Given the description of an element on the screen output the (x, y) to click on. 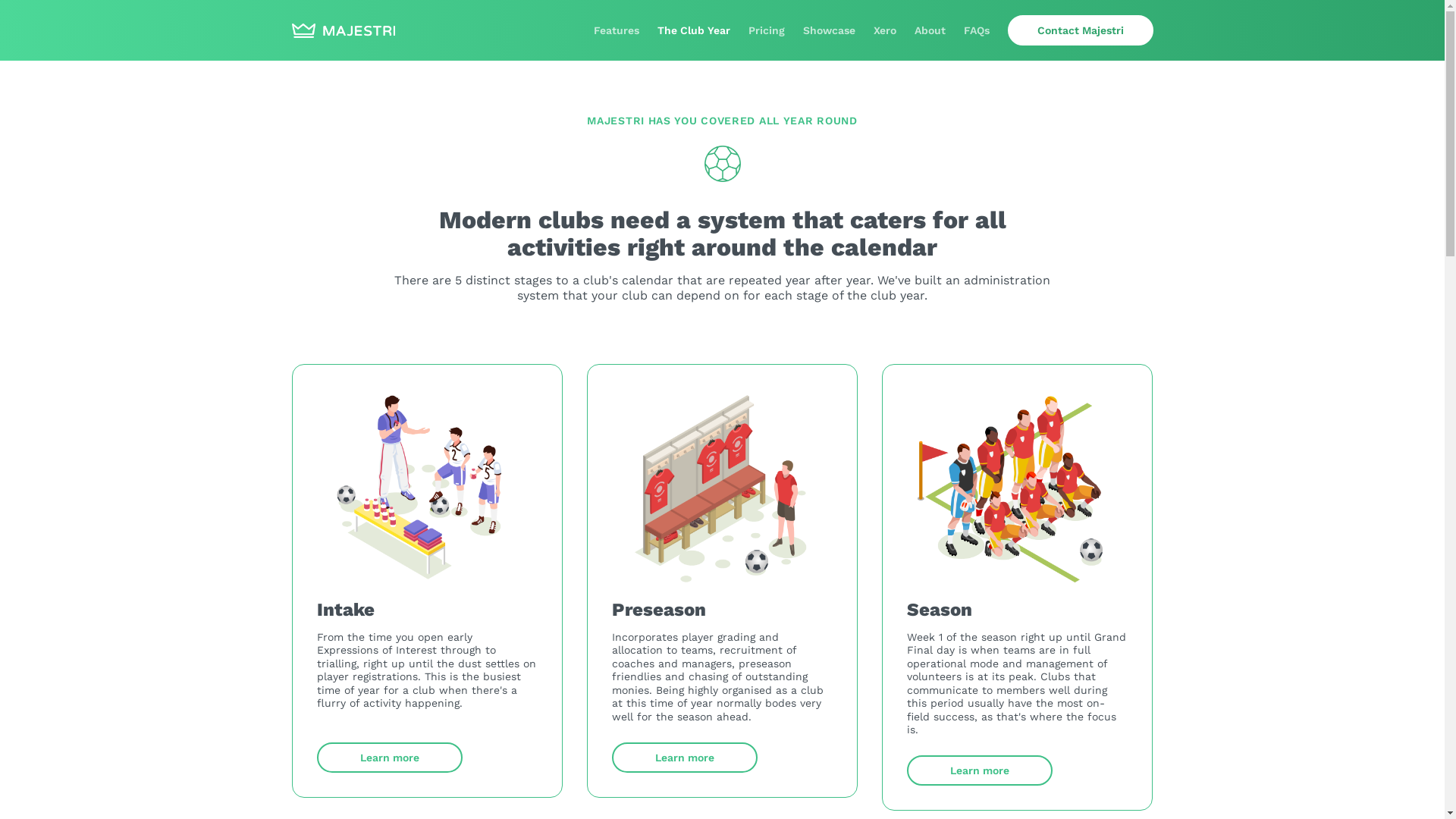
Showcase Element type: text (828, 30)
Learn more Element type: text (389, 757)
Majestri Element type: text (342, 30)
Xero Element type: text (884, 30)
Pricing Element type: text (765, 30)
Features Element type: text (615, 30)
Contact Majestri Element type: text (1079, 30)
Learn more Element type: text (684, 757)
FAQs Element type: text (975, 30)
About Element type: text (929, 30)
Learn more Element type: text (979, 770)
The Club Year Element type: text (692, 30)
